Given the description of an element on the screen output the (x, y) to click on. 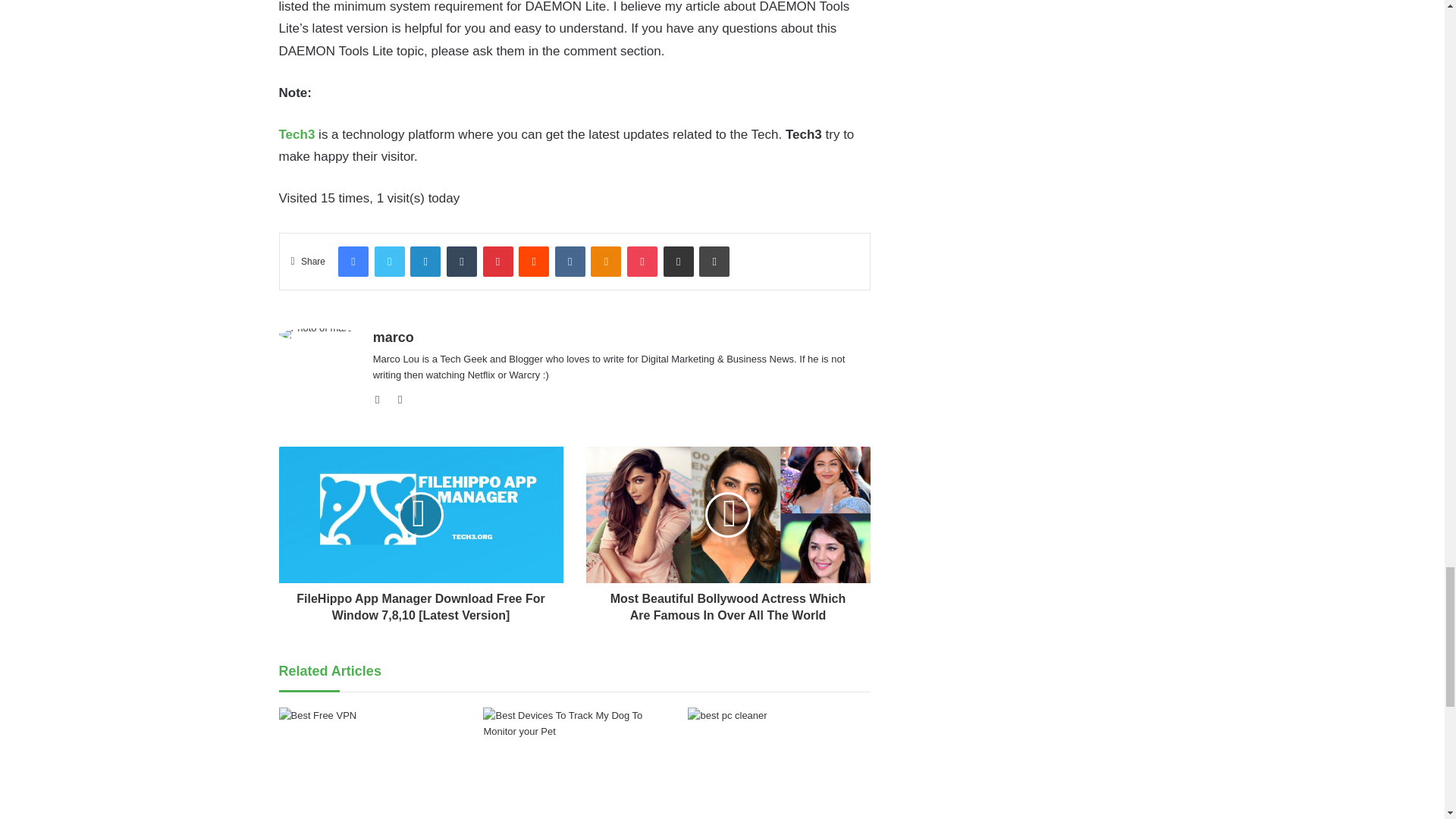
VKontakte (569, 261)
Share via Email (678, 261)
Pocket (642, 261)
marco (392, 337)
Facebook (352, 261)
Tumblr (461, 261)
Facebook (352, 261)
LinkedIn (425, 261)
Pinterest (496, 261)
Tumblr (461, 261)
Twitter (389, 261)
Reddit (533, 261)
Tech3 (297, 134)
Reddit (533, 261)
Print (713, 261)
